Given the description of an element on the screen output the (x, y) to click on. 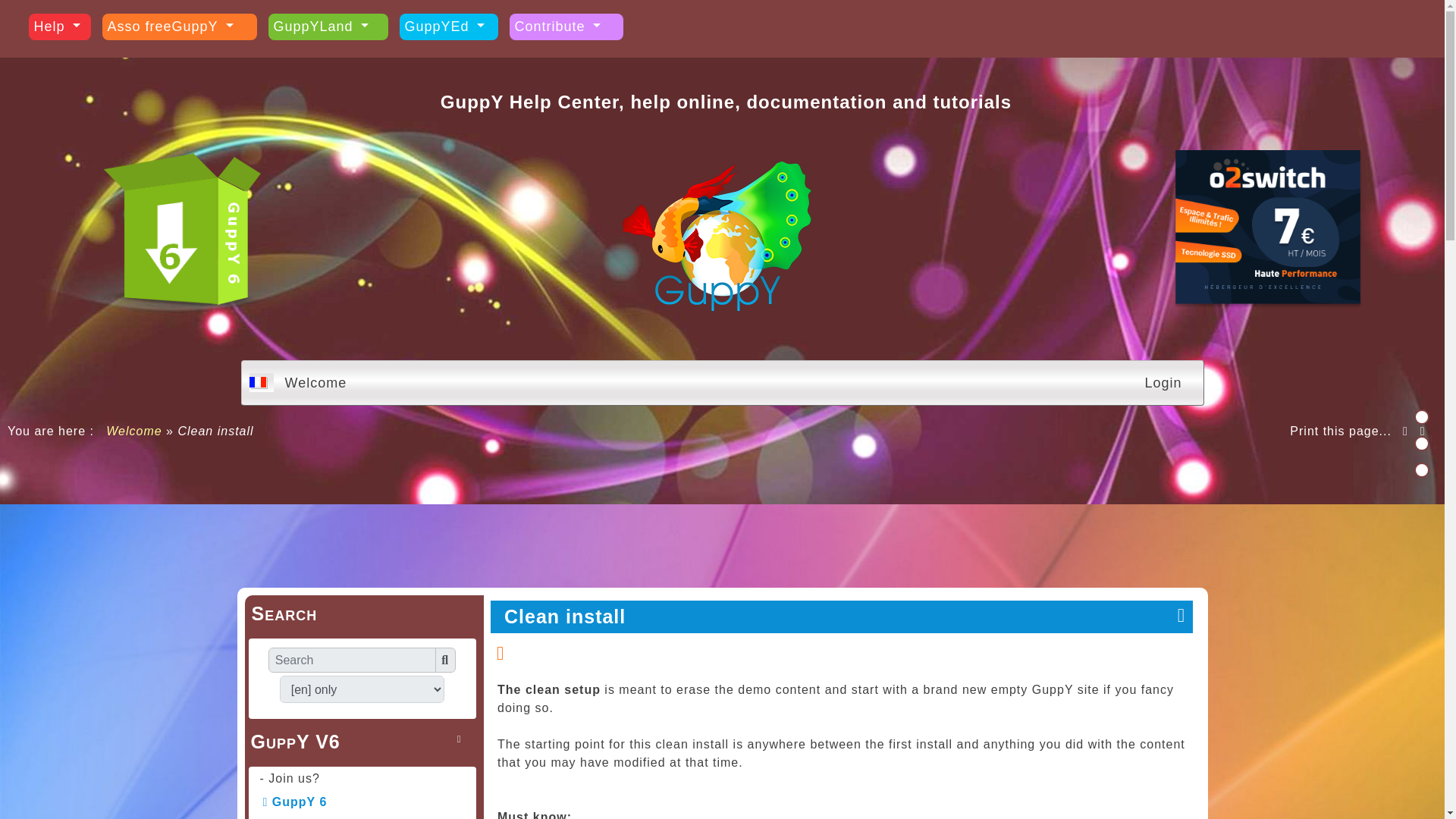
Contribute (566, 26)
Login (1162, 382)
GuppYLand (327, 26)
Join us? (295, 778)
Join us?  (295, 778)
Middle (1421, 443)
Welcome (133, 431)
Help (59, 26)
Login (1162, 382)
Top (1421, 417)
Welcome (133, 431)
GuppYEd (447, 26)
GuppY Help Center (715, 240)
Asso freeGuppY (178, 26)
Welcome (315, 382)
